Given the description of an element on the screen output the (x, y) to click on. 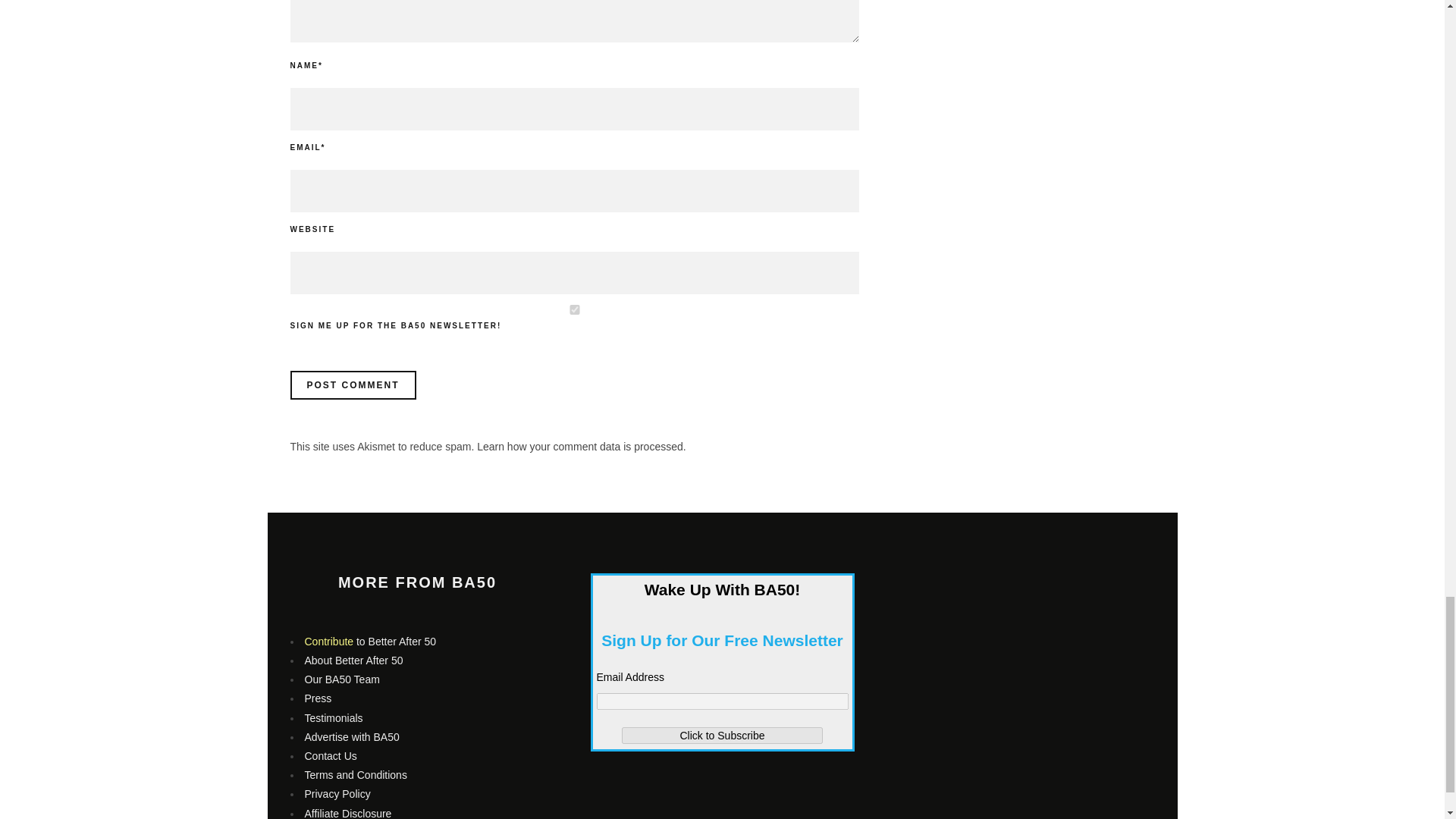
Post Comment (351, 385)
Click to Subscribe (722, 735)
1 (574, 309)
